Given the description of an element on the screen output the (x, y) to click on. 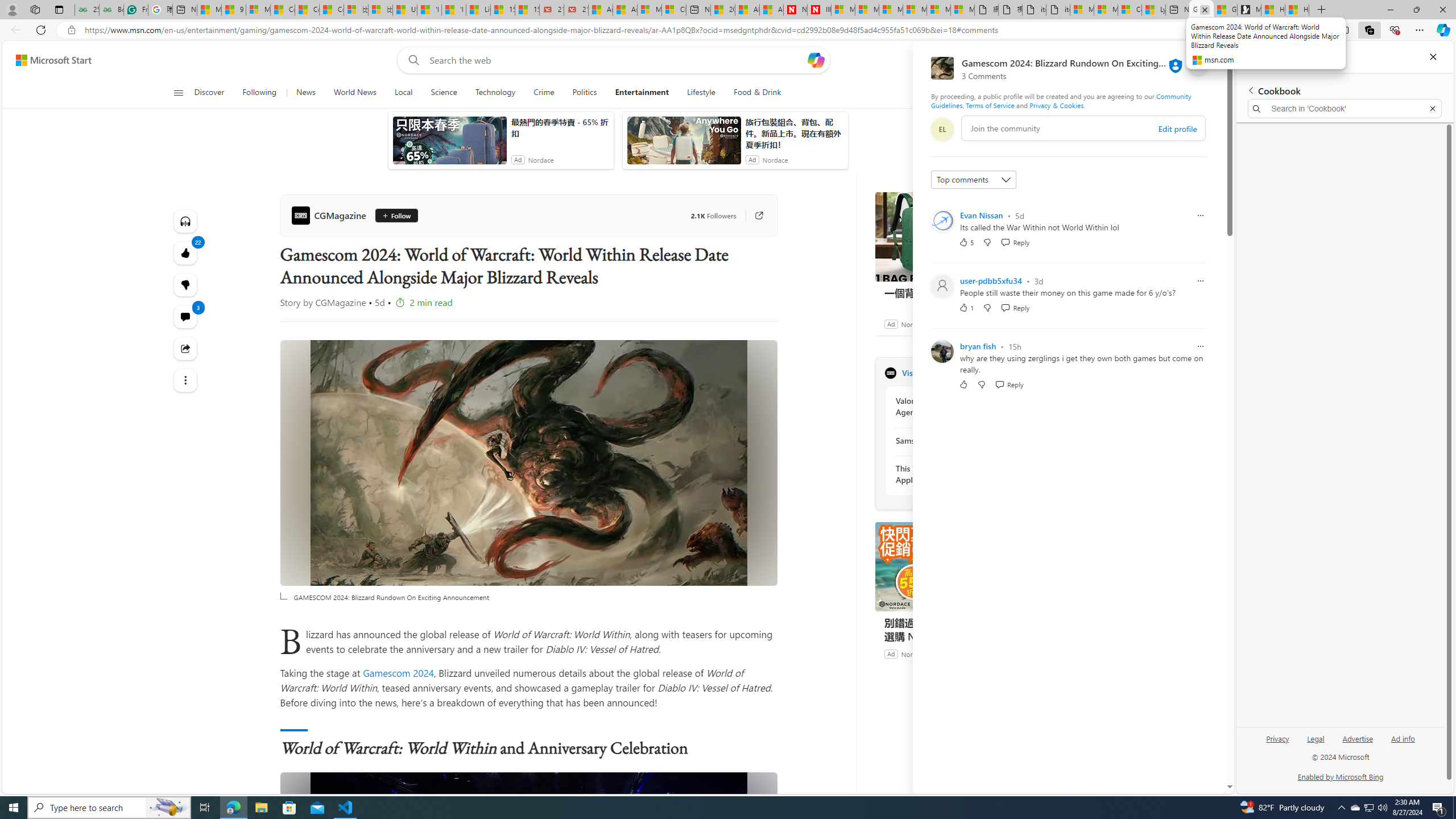
Illness news & latest pictures from Newsweek.com (818, 9)
Profile Picture (941, 350)
Newsweek - News, Analysis, Politics, Business, Technology (795, 9)
Visit CGMagazine website (1031, 372)
Back to list of collections (1250, 90)
CGMagazine (889, 372)
Consumer Health Data Privacy Policy (1129, 9)
itconcepthk.com/projector_solutions.mp4 (1057, 9)
